Given the description of an element on the screen output the (x, y) to click on. 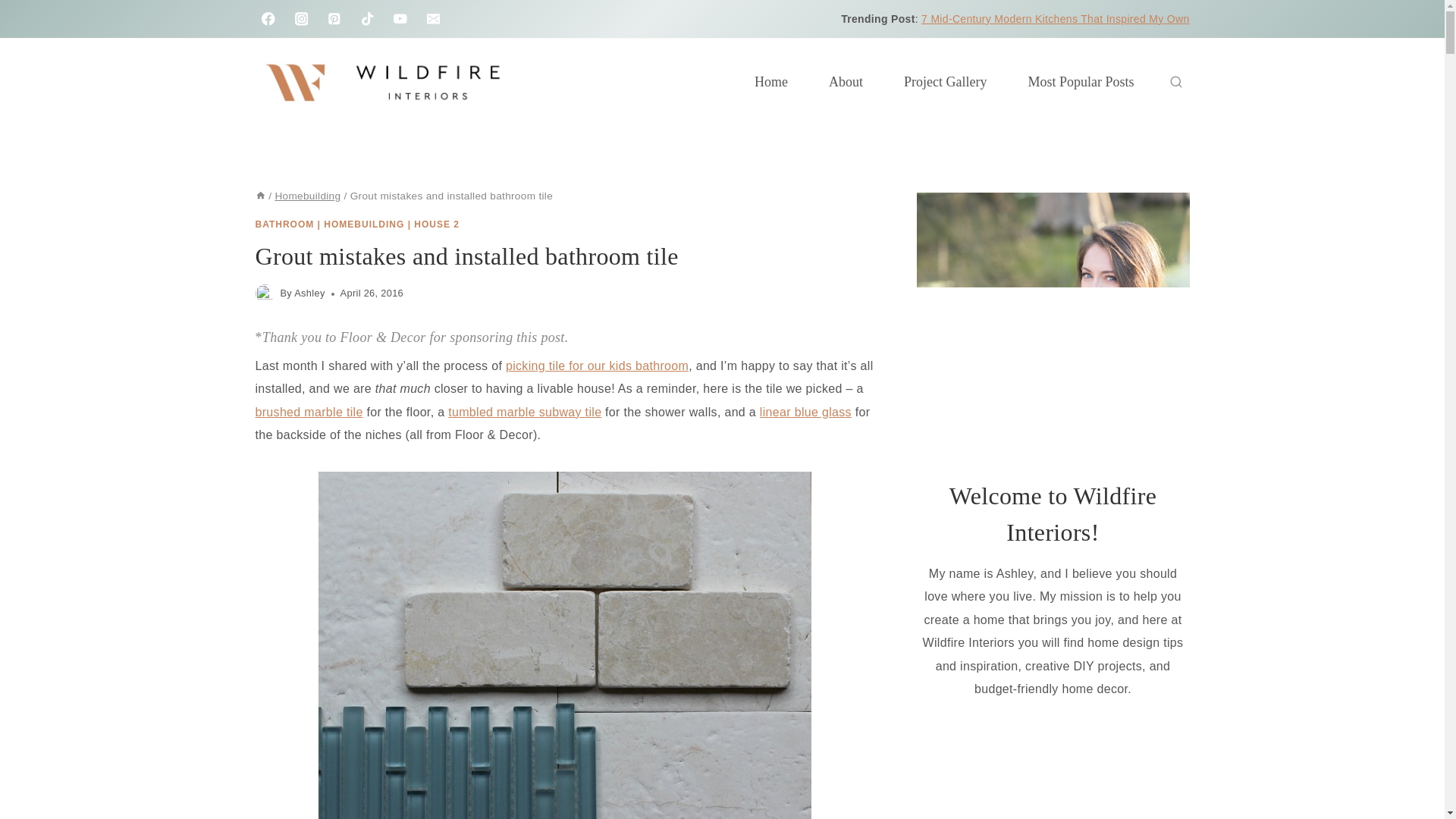
HOMEBUILDING (363, 224)
linear blue glass (805, 411)
BATHROOM (284, 224)
Ashley (309, 292)
brushed marble tile (308, 411)
tumbled marble subway tile (524, 411)
Homebuilding (307, 195)
picking tile for our kids bathroom (596, 365)
7 Mid-Century Modern Kitchens That Inspired My Own (1055, 19)
Most Popular Posts (1080, 81)
